Given the description of an element on the screen output the (x, y) to click on. 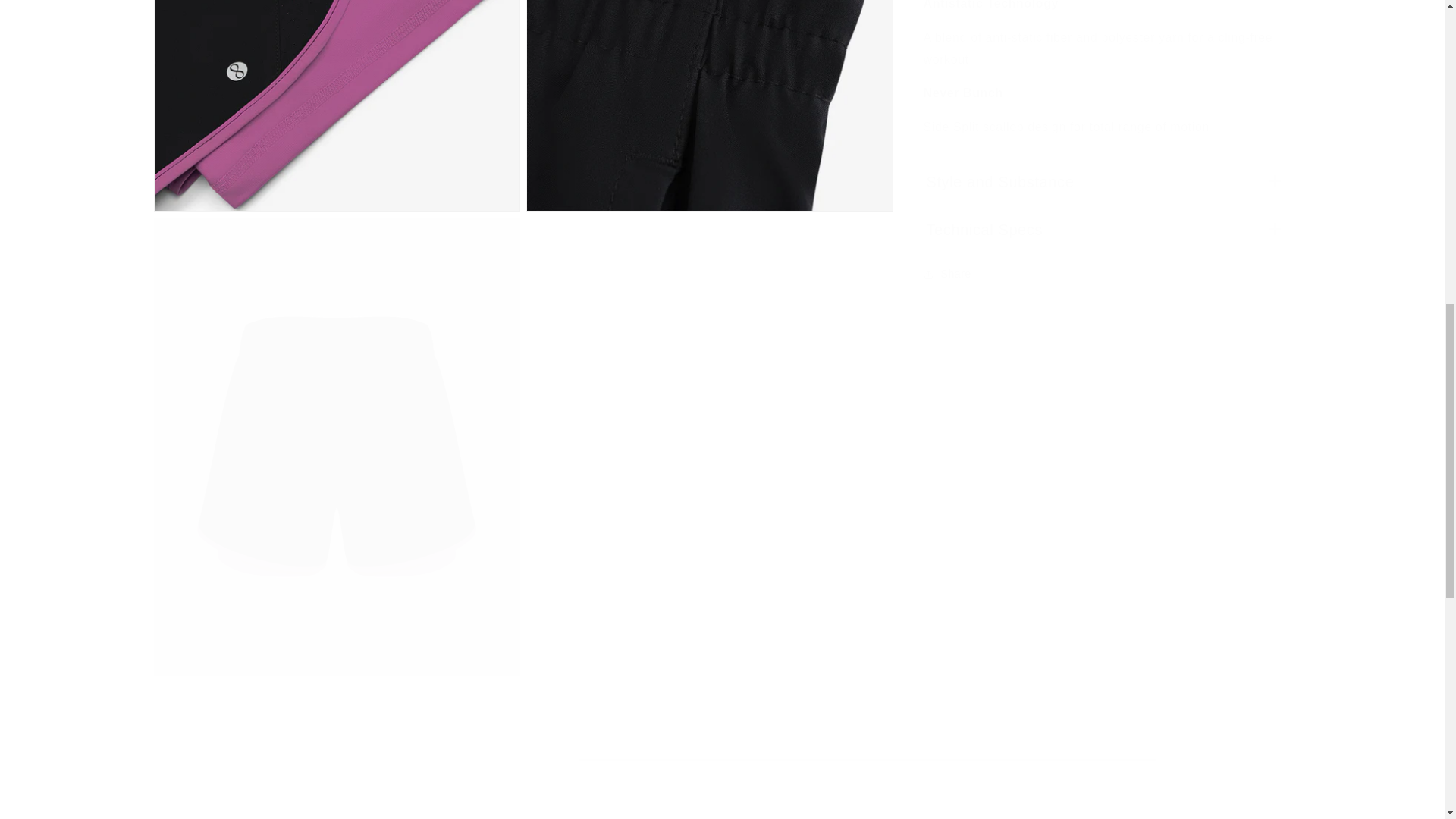
0 (709, 105)
0 (335, 105)
